Given the description of an element on the screen output the (x, y) to click on. 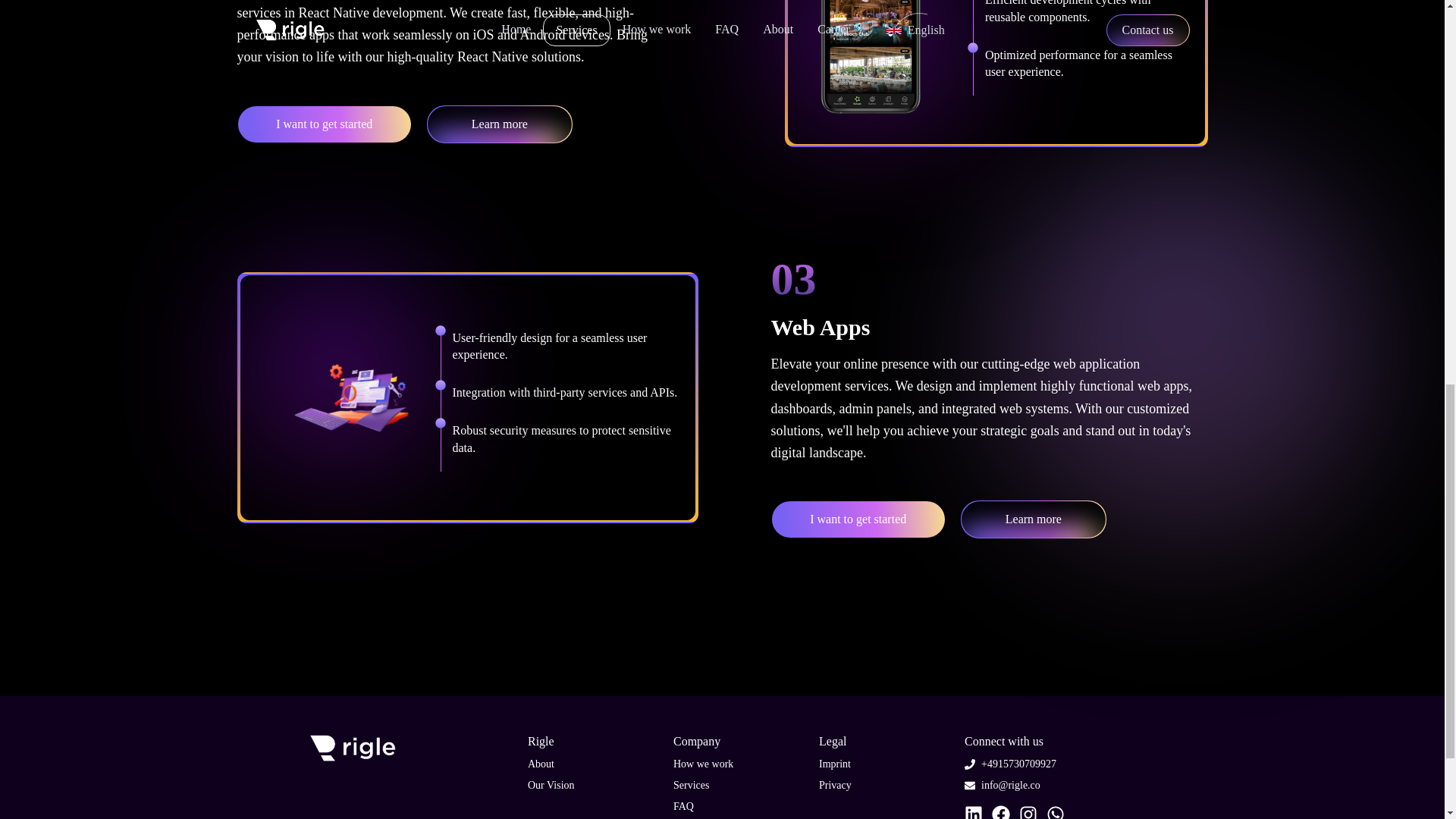
About (540, 763)
Learn more (1033, 519)
Learn more (499, 124)
FAQ (683, 806)
Privacy (834, 785)
How we work (702, 763)
Services (690, 785)
I want to get started (857, 519)
I want to get started (322, 124)
Our Vision (551, 785)
